Given the description of an element on the screen output the (x, y) to click on. 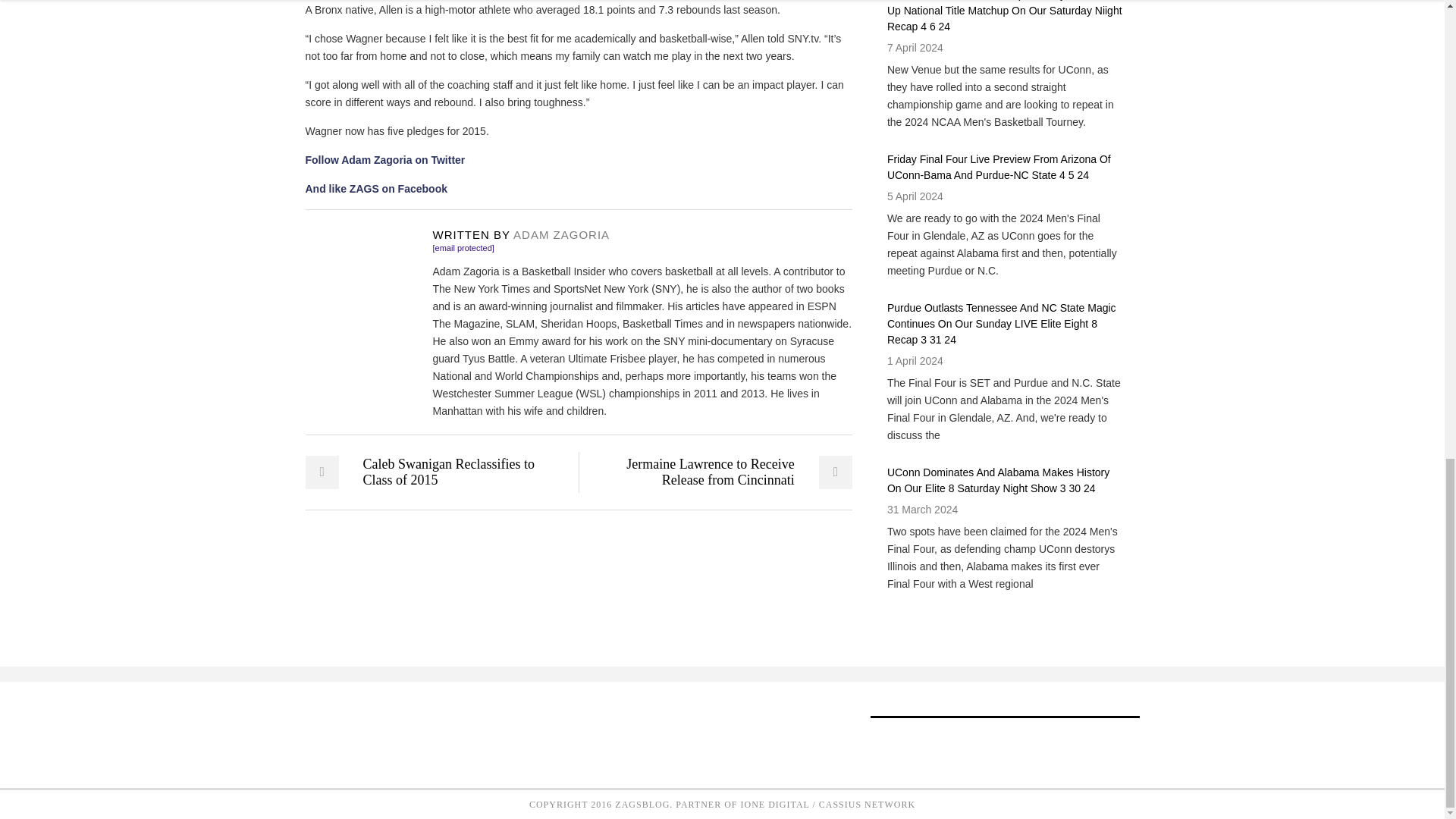
1 April 2024, 12:58 am UTC (914, 360)
5 April 2024, 10:12 pm UTC (914, 196)
7 April 2024, 4:00 am UTC (914, 47)
31 March 2024, 4:40 am UTC (922, 509)
